Given the description of an element on the screen output the (x, y) to click on. 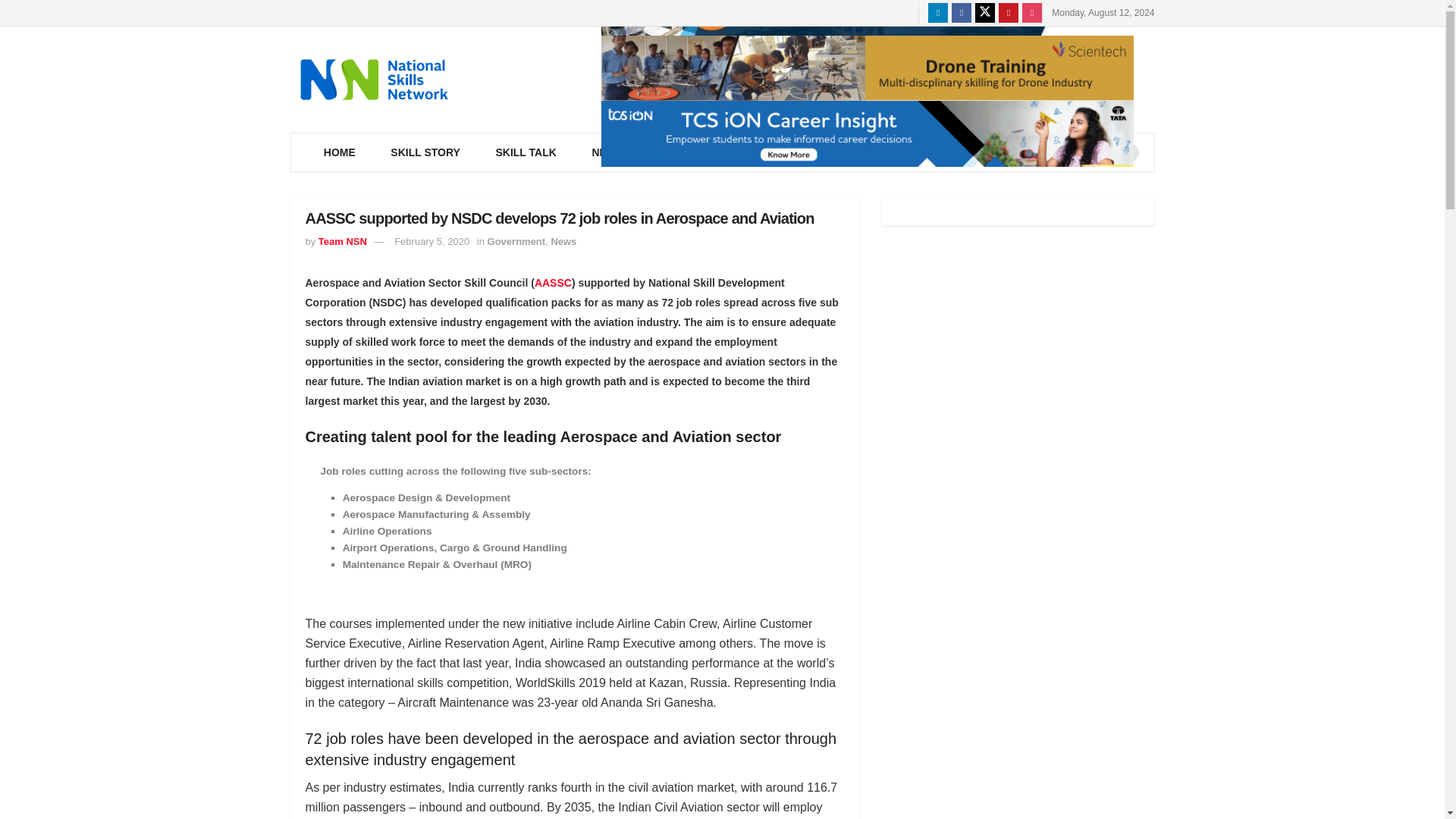
RESOURCES (700, 152)
HOME (339, 152)
ABOUT US (908, 152)
SKILL2JOBS (807, 152)
SKILL TALK (525, 152)
SUCCESS STORIES (1024, 152)
Drone PNG (865, 68)
SKILL STORY (424, 152)
NEWS (609, 152)
